Given the description of an element on the screen output the (x, y) to click on. 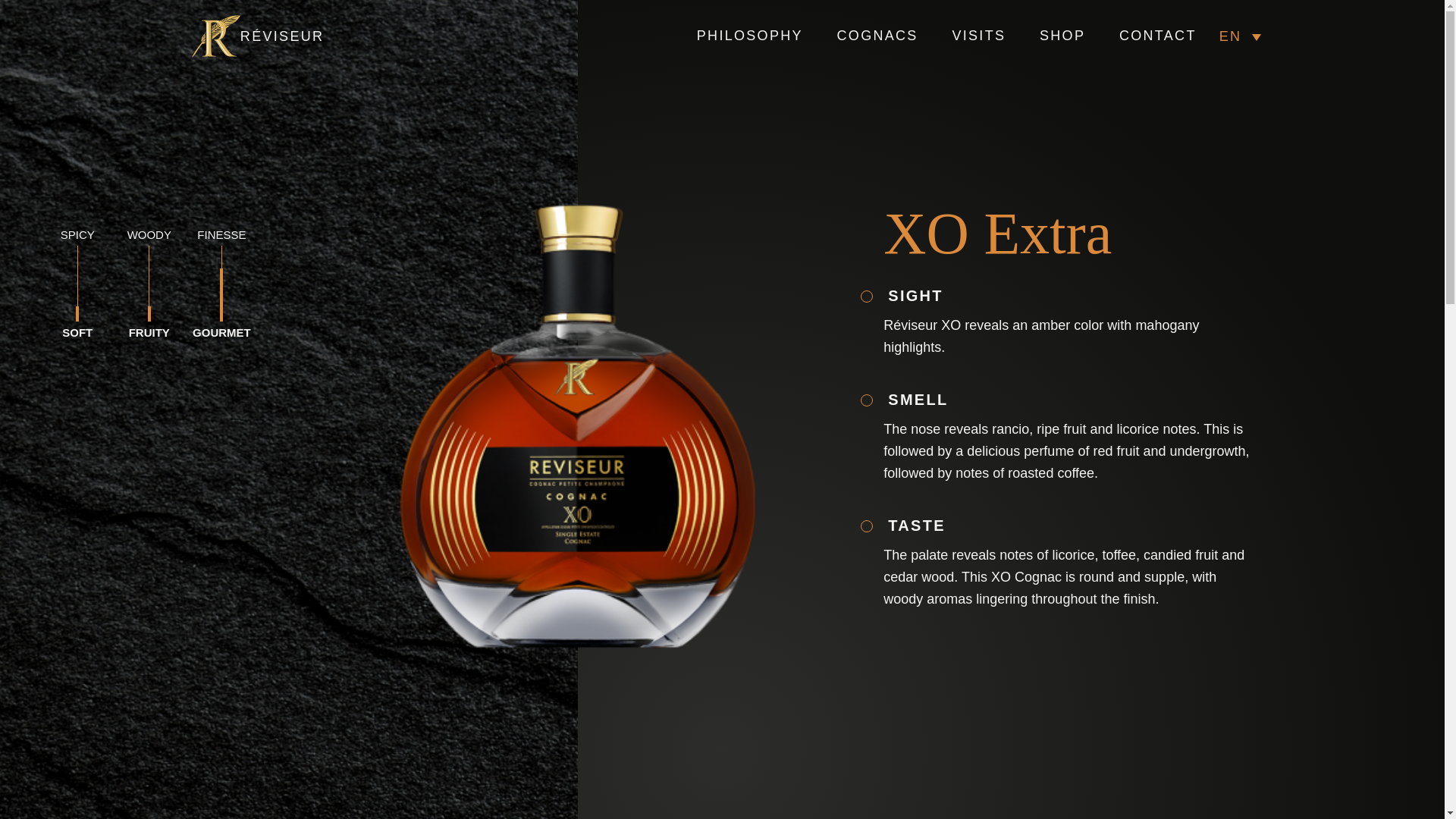
CONTACT (1157, 35)
SHOP (1061, 35)
PHILOSOPHY (750, 35)
EN (1239, 35)
COGNACS (877, 35)
VISITS (979, 35)
